Given the description of an element on the screen output the (x, y) to click on. 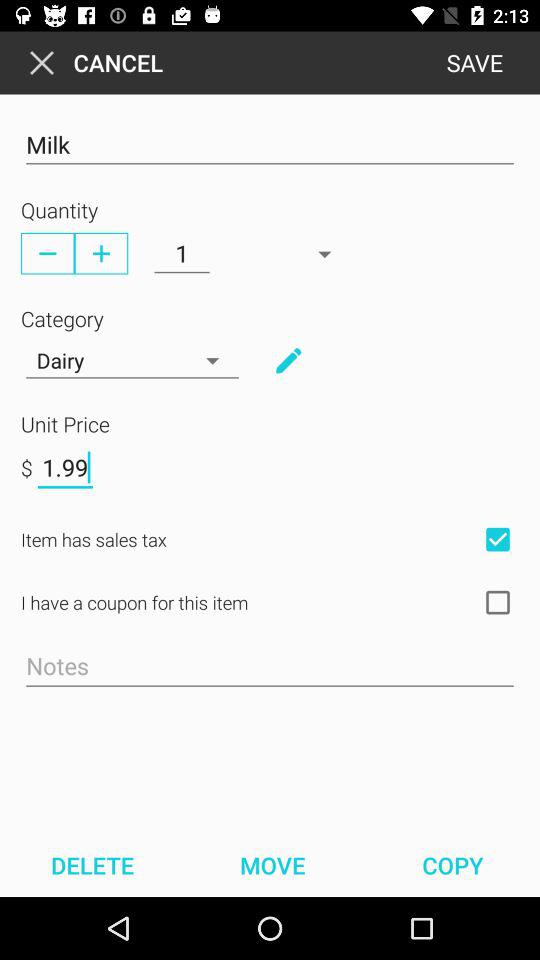
toggle item coupon indicator (498, 602)
